Given the description of an element on the screen output the (x, y) to click on. 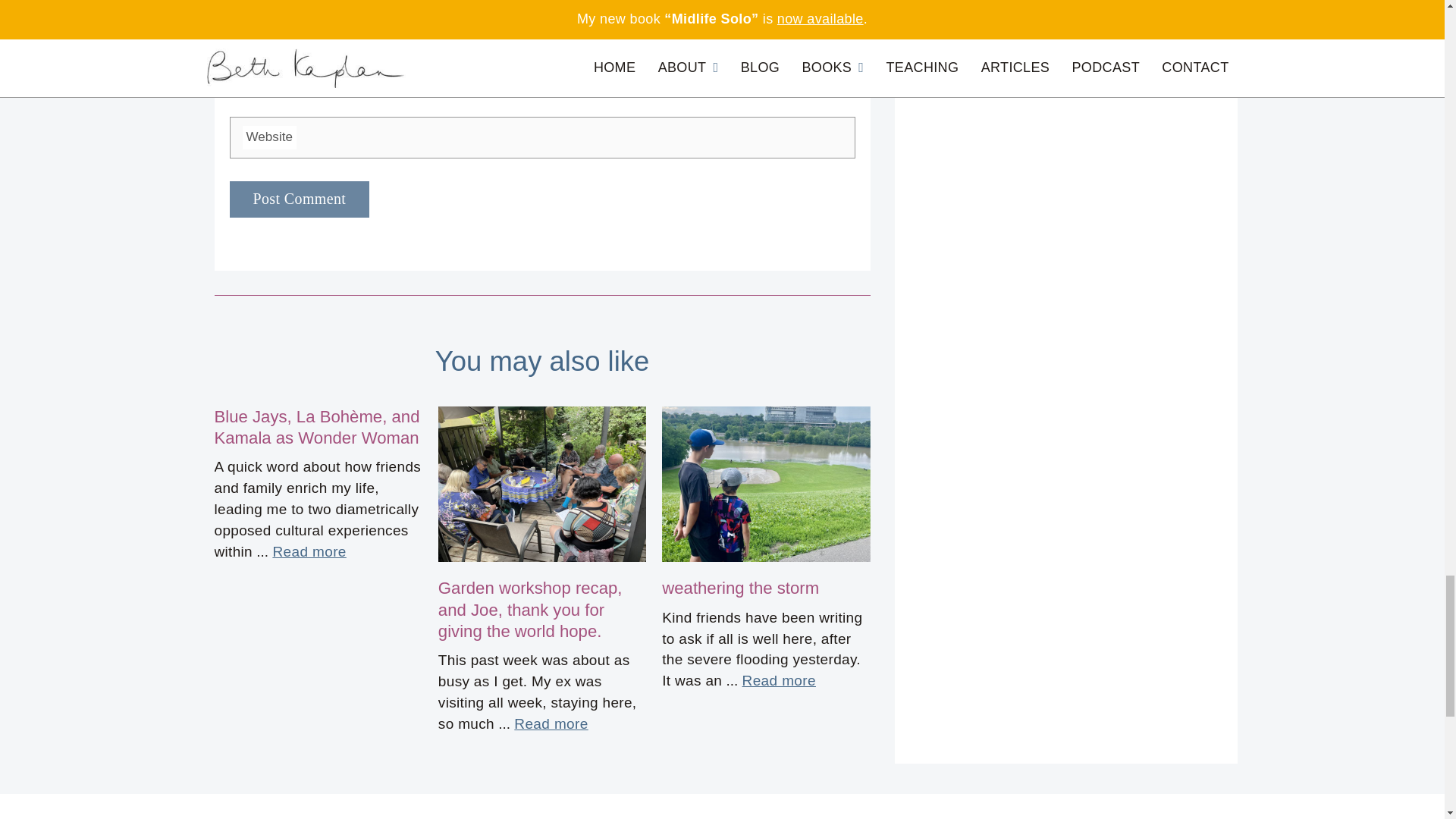
Post Comment (298, 198)
Post Comment (298, 198)
Read more (778, 680)
Read more (309, 551)
weathering the storm (740, 587)
Read more (550, 723)
